Given the description of an element on the screen output the (x, y) to click on. 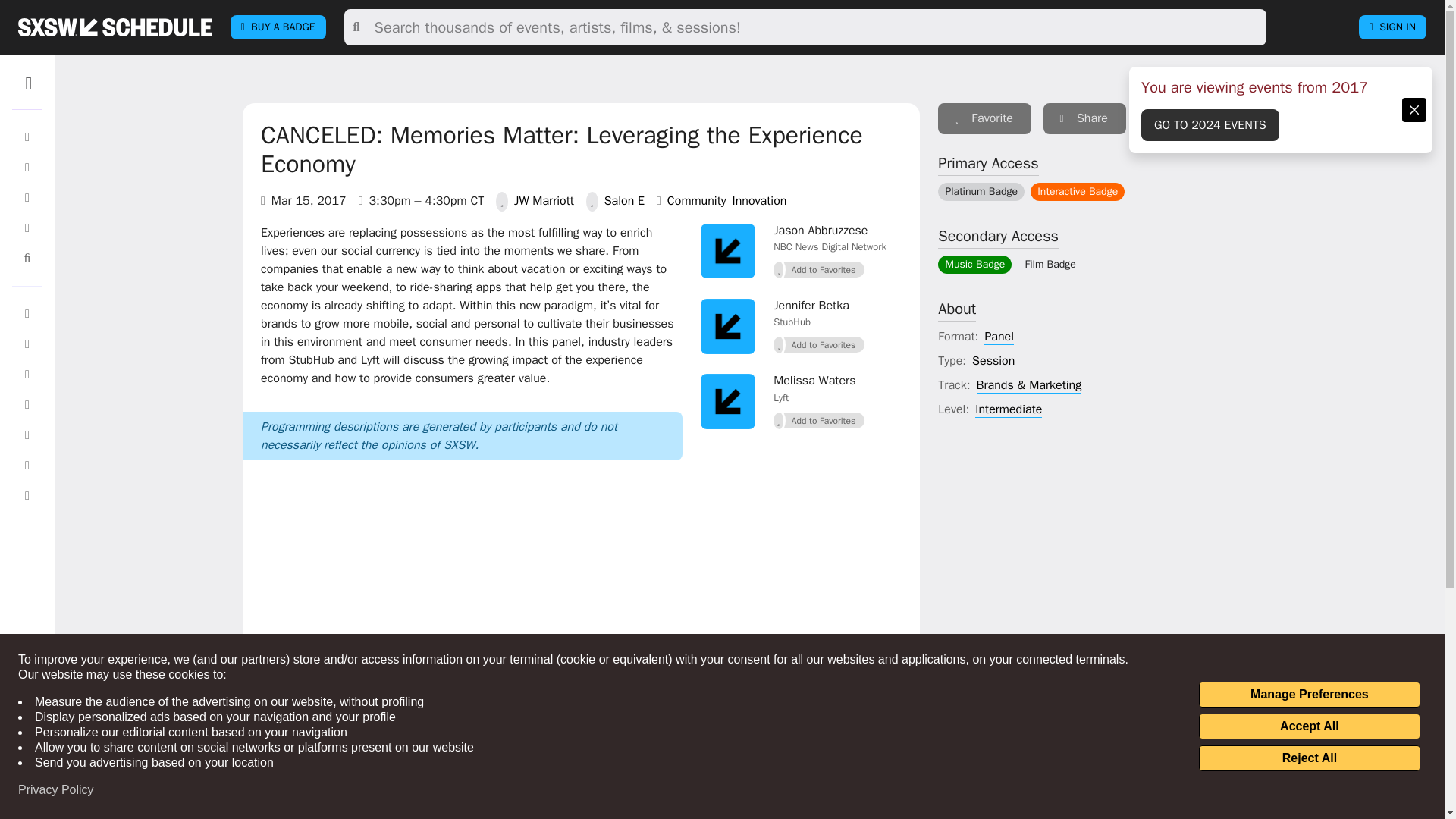
sxsw SCHEDULE (114, 27)
BUY A BADGE (278, 27)
Sign In to add to your favorites. (818, 344)
Sign In to add to your favorites. (983, 118)
Accept All (1309, 726)
Sign In to add to your favorites. (818, 269)
Manage Preferences (1309, 694)
SIGN IN (1392, 27)
Sign In to add to your favorites. (818, 420)
GO TO 2024 EVENTS (1210, 124)
Reject All (1309, 758)
Privacy Policy (55, 789)
